Given the description of an element on the screen output the (x, y) to click on. 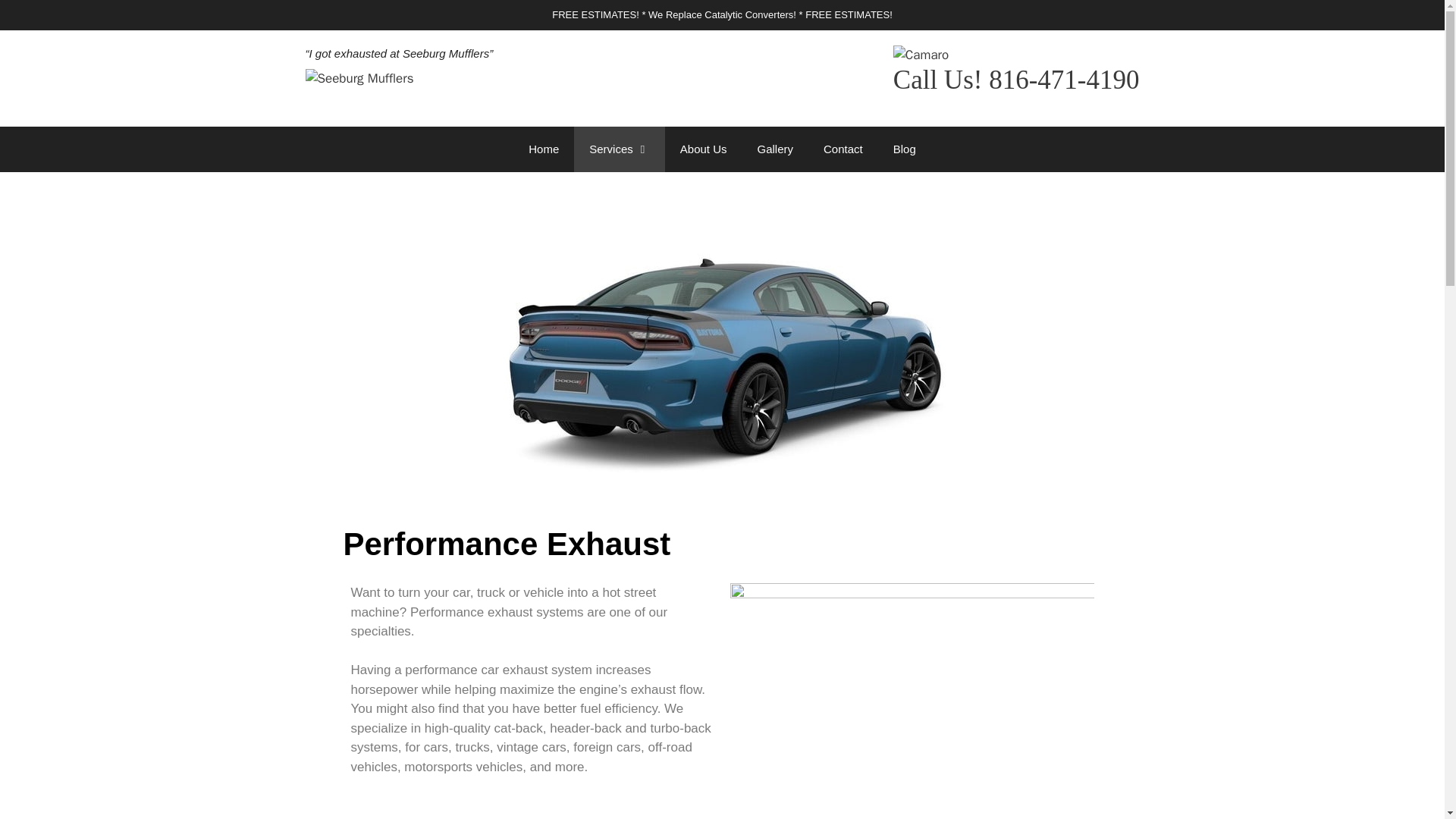
Blog (904, 148)
816-471-4190 (1063, 80)
Gallery (774, 148)
Contact (842, 148)
Home (543, 148)
Services (619, 148)
About Us (703, 148)
